Given the description of an element on the screen output the (x, y) to click on. 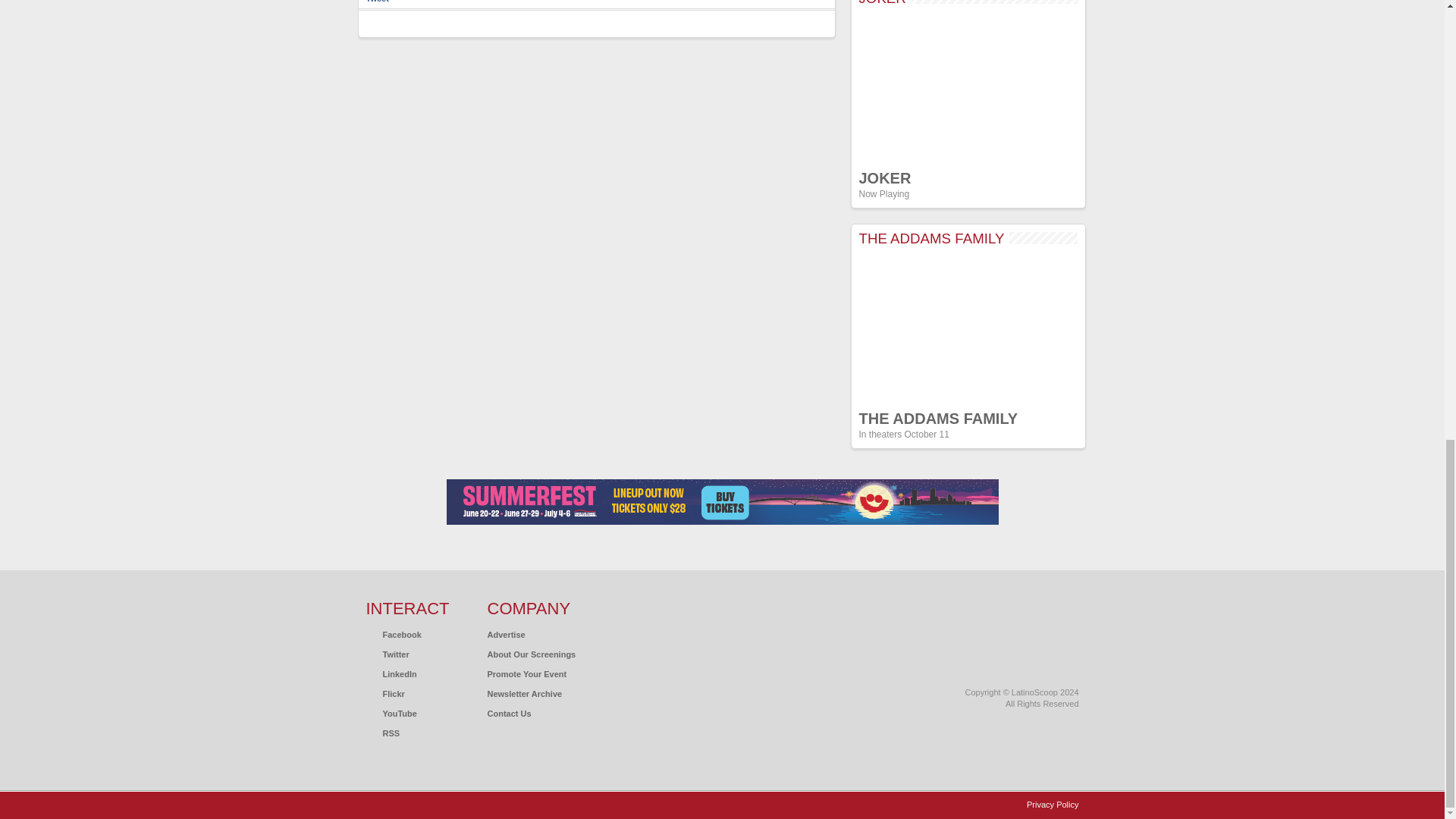
LatinoScoop on Facebook (392, 634)
YouTube video player (968, 328)
Flickr (384, 693)
LinkedIn (390, 674)
Tweet (376, 1)
Facebook (392, 634)
YouTube video player (968, 87)
Twitter (387, 654)
